Given the description of an element on the screen output the (x, y) to click on. 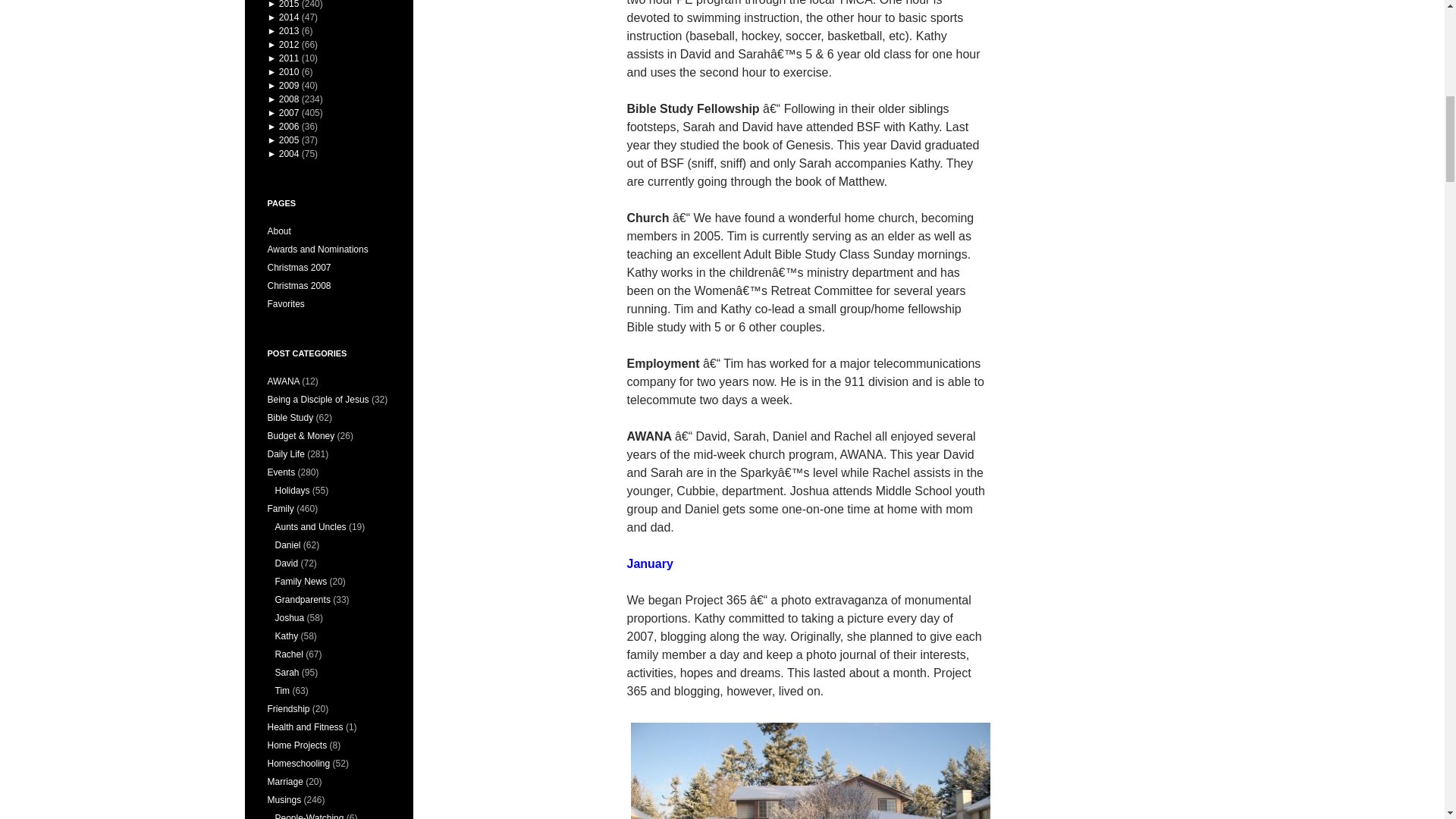
snowy day (809, 769)
